Given the description of an element on the screen output the (x, y) to click on. 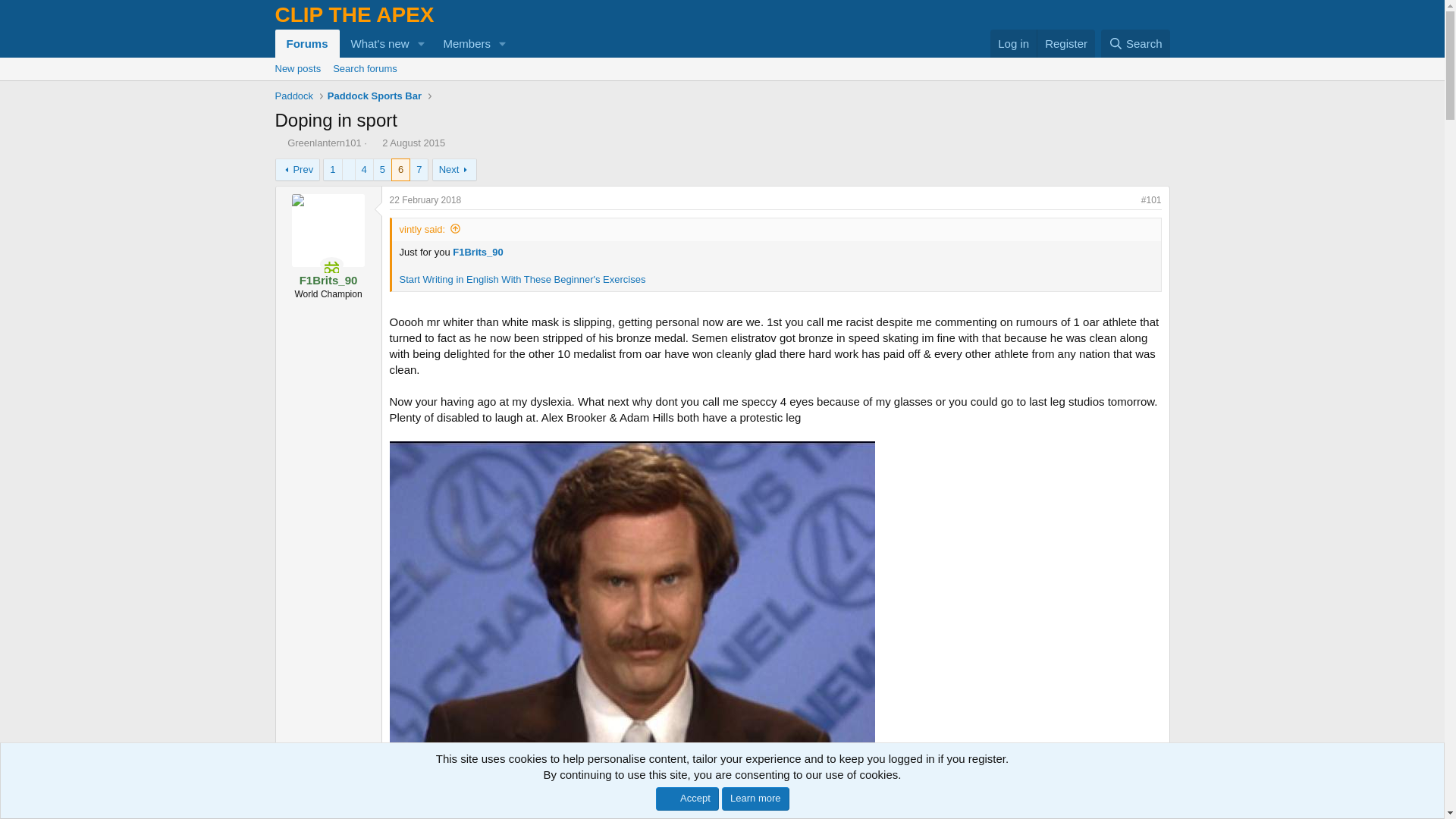
Register (1065, 43)
Search (720, 85)
Paddock (1135, 43)
2 August 2015 (293, 96)
New posts (413, 142)
Log in (296, 68)
What's new (1013, 43)
Thread starter (374, 43)
Paddock Sports Bar (279, 143)
Members (374, 96)
Search (461, 43)
22 February 2018 at 15:35 (1135, 43)
Search forums (425, 199)
